Given the description of an element on the screen output the (x, y) to click on. 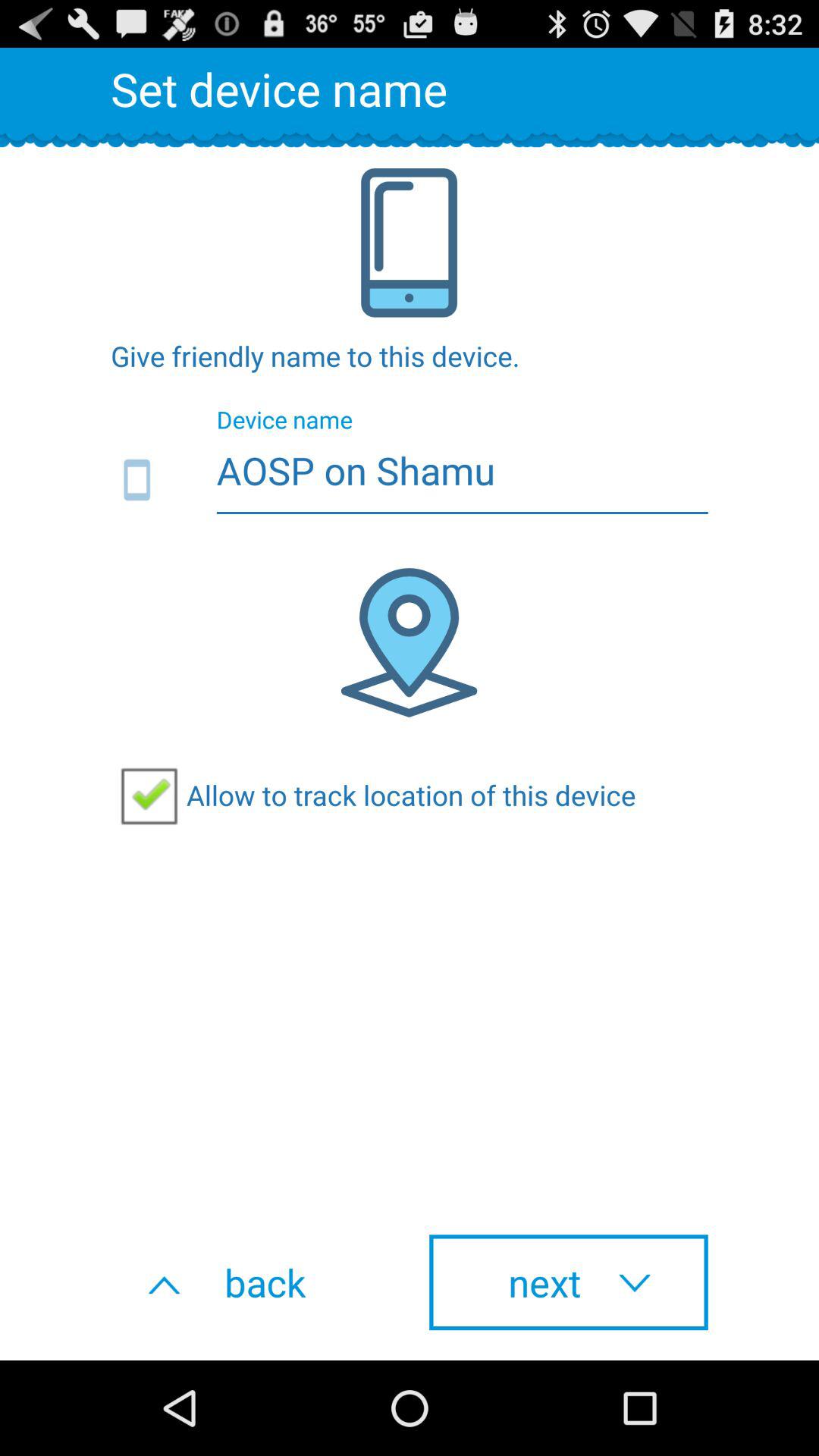
click button next to the back (568, 1282)
